Given the description of an element on the screen output the (x, y) to click on. 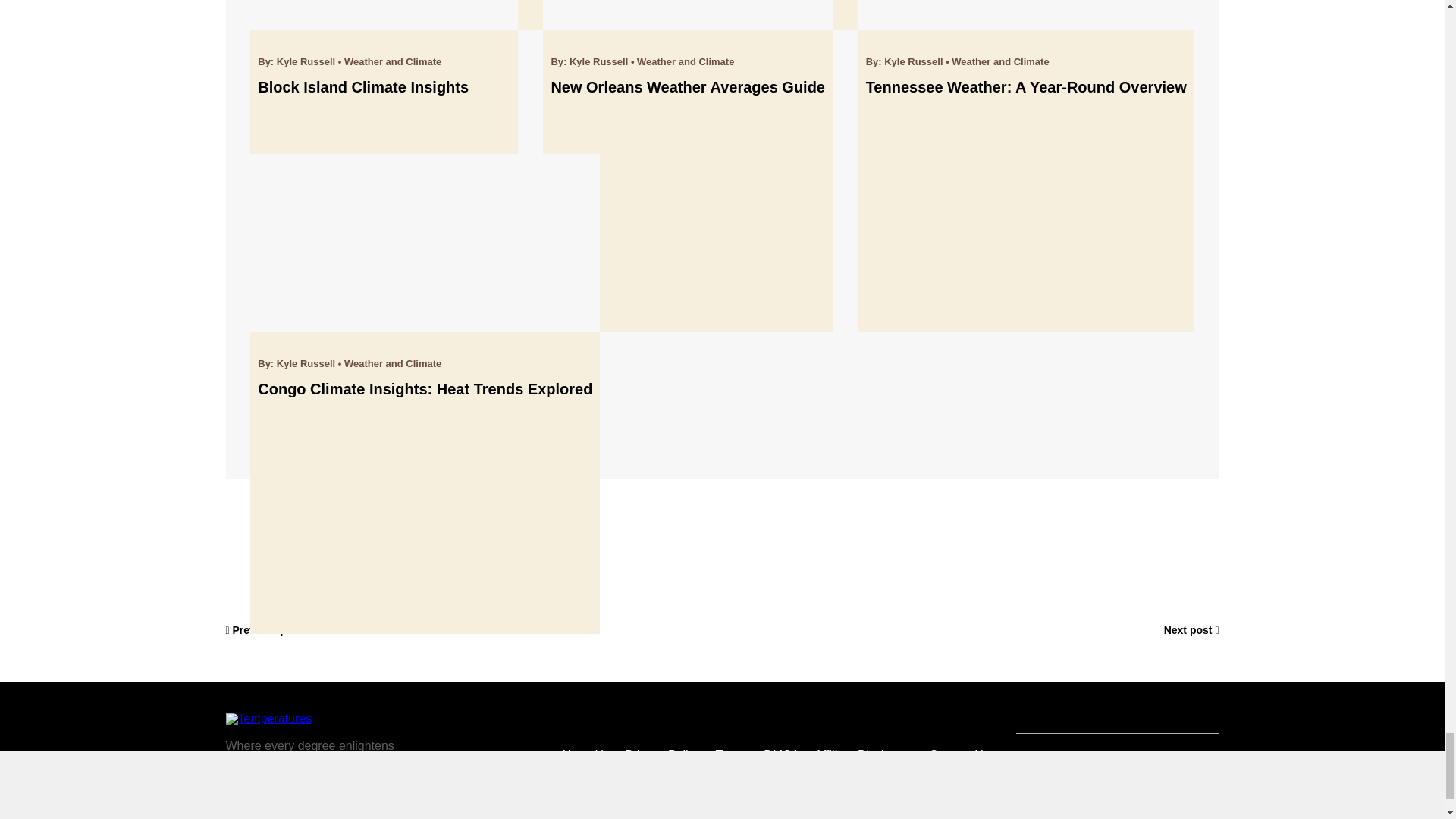
temperatures (269, 718)
